Given the description of an element on the screen output the (x, y) to click on. 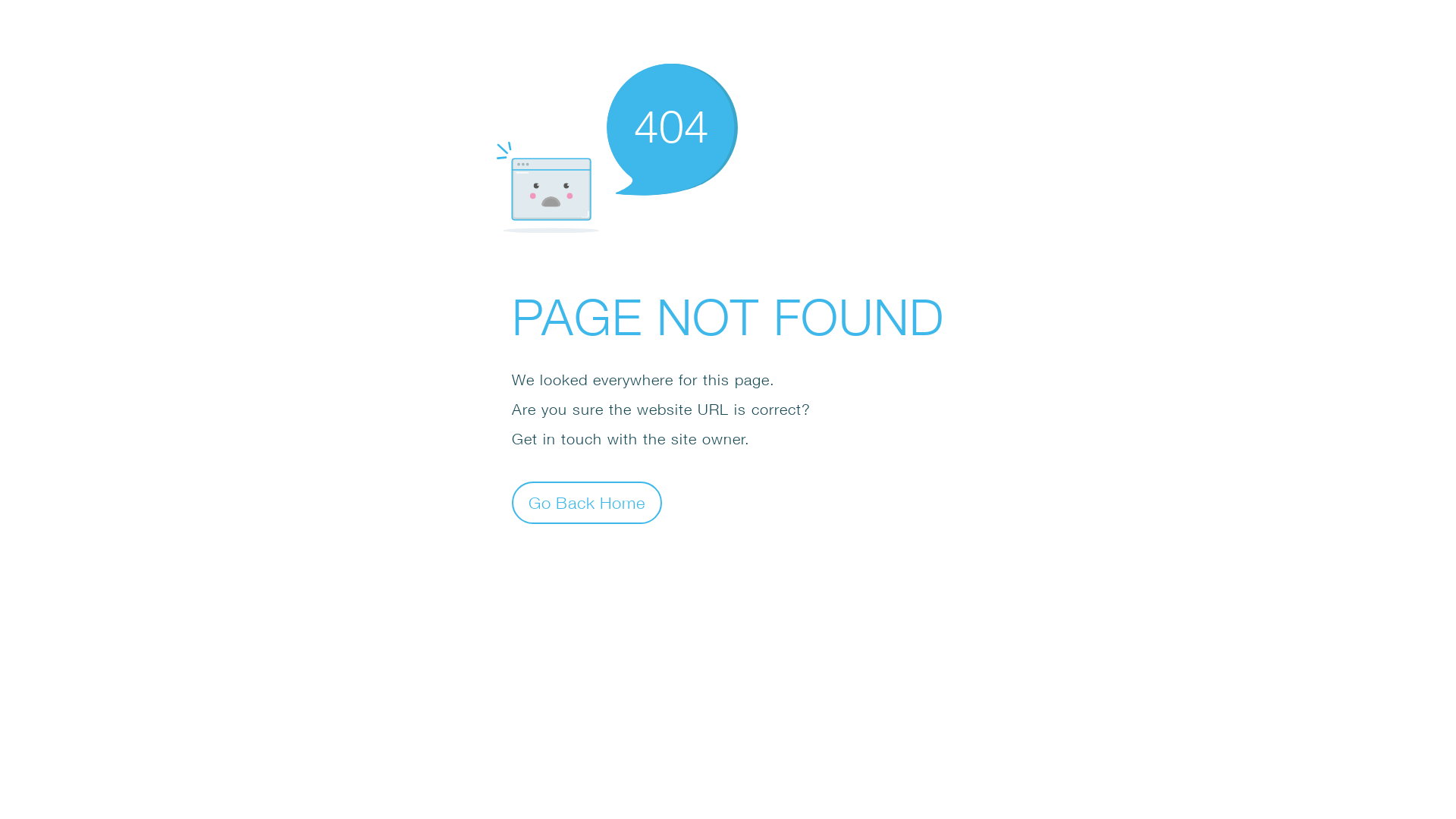
Go Back Home Element type: text (586, 502)
